Given the description of an element on the screen output the (x, y) to click on. 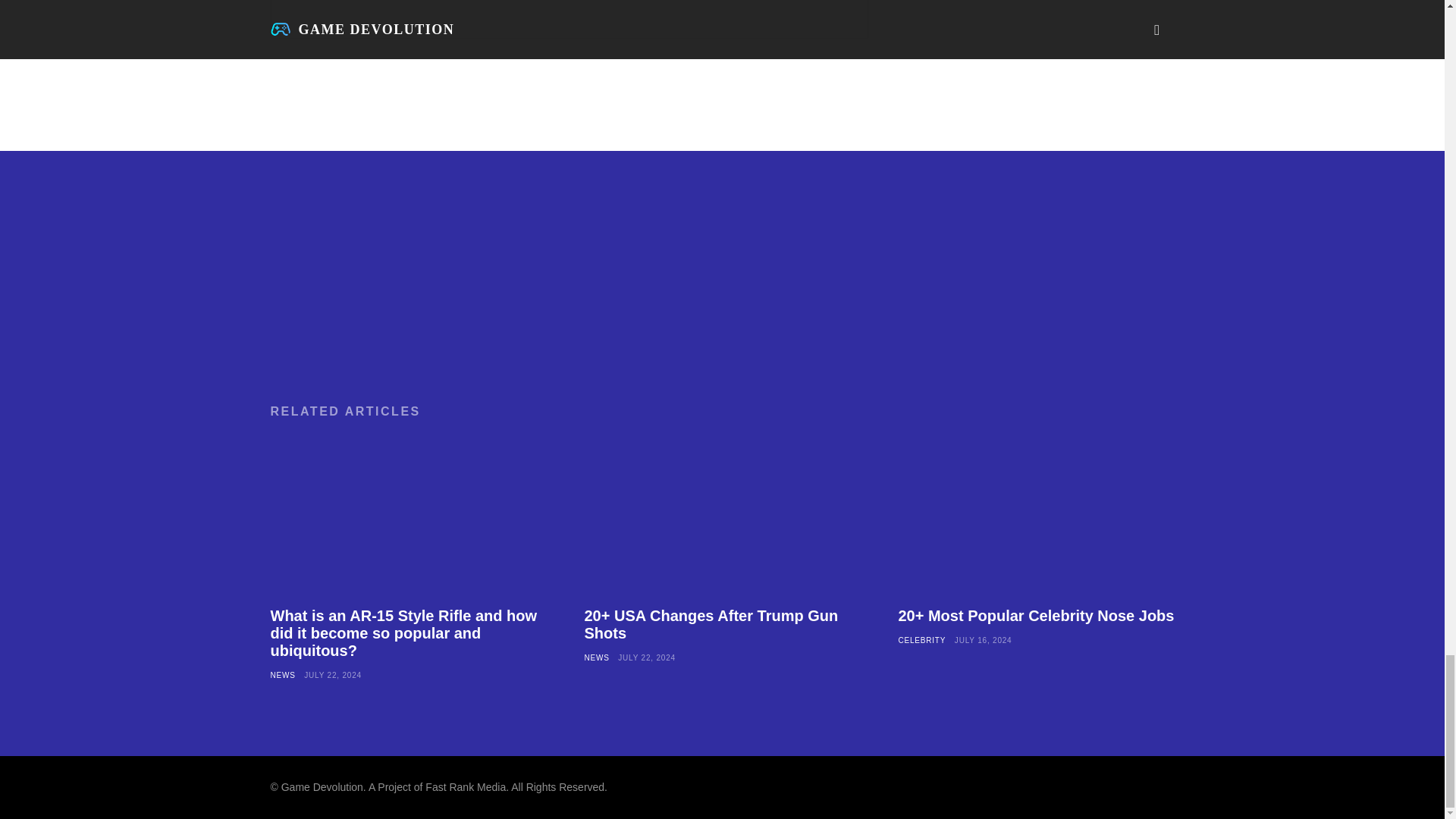
Muhammad Usman Siddiqui (322, 11)
